Given the description of an element on the screen output the (x, y) to click on. 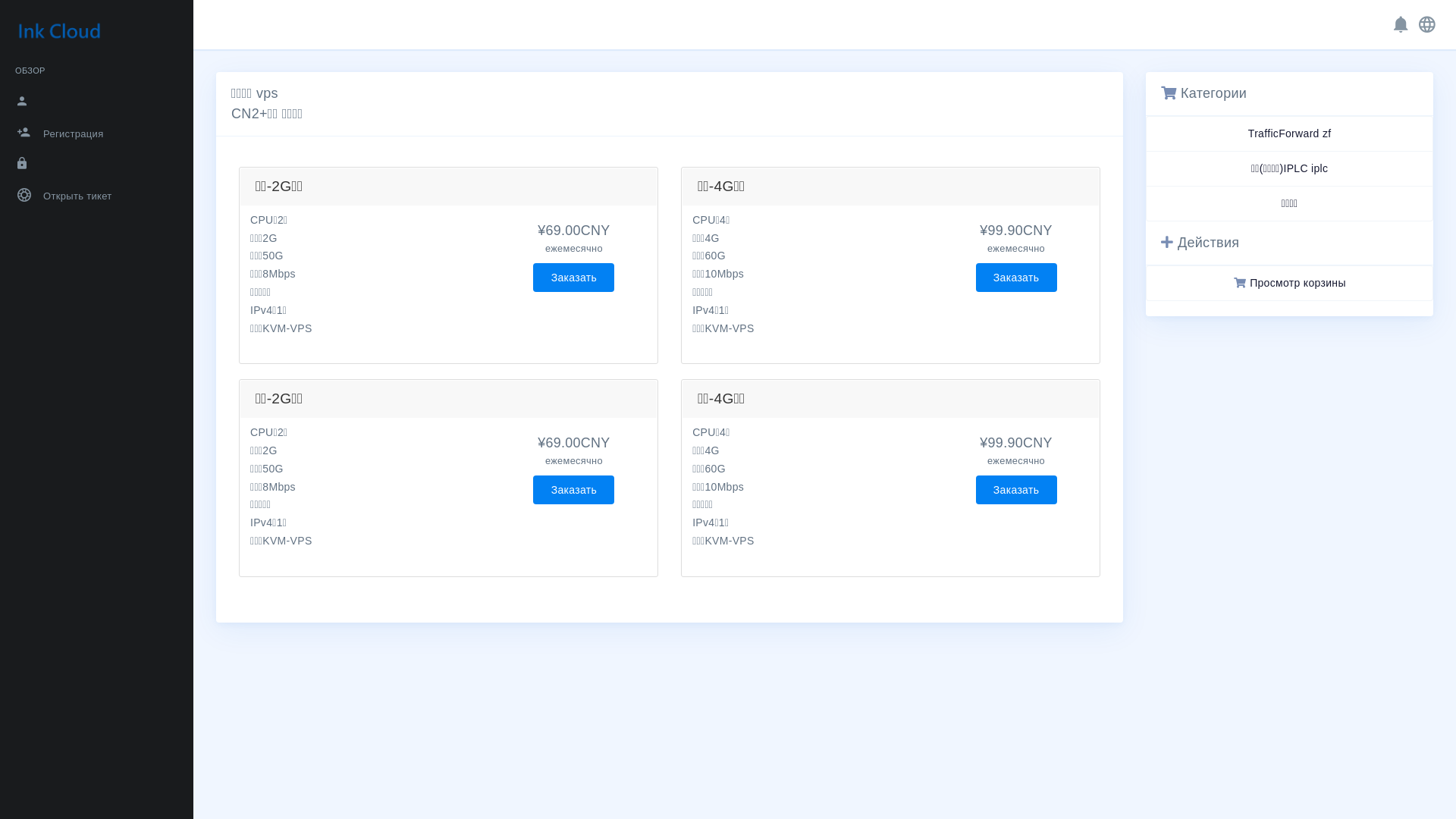
TrafficForward zf Element type: text (1289, 133)
